Given the description of an element on the screen output the (x, y) to click on. 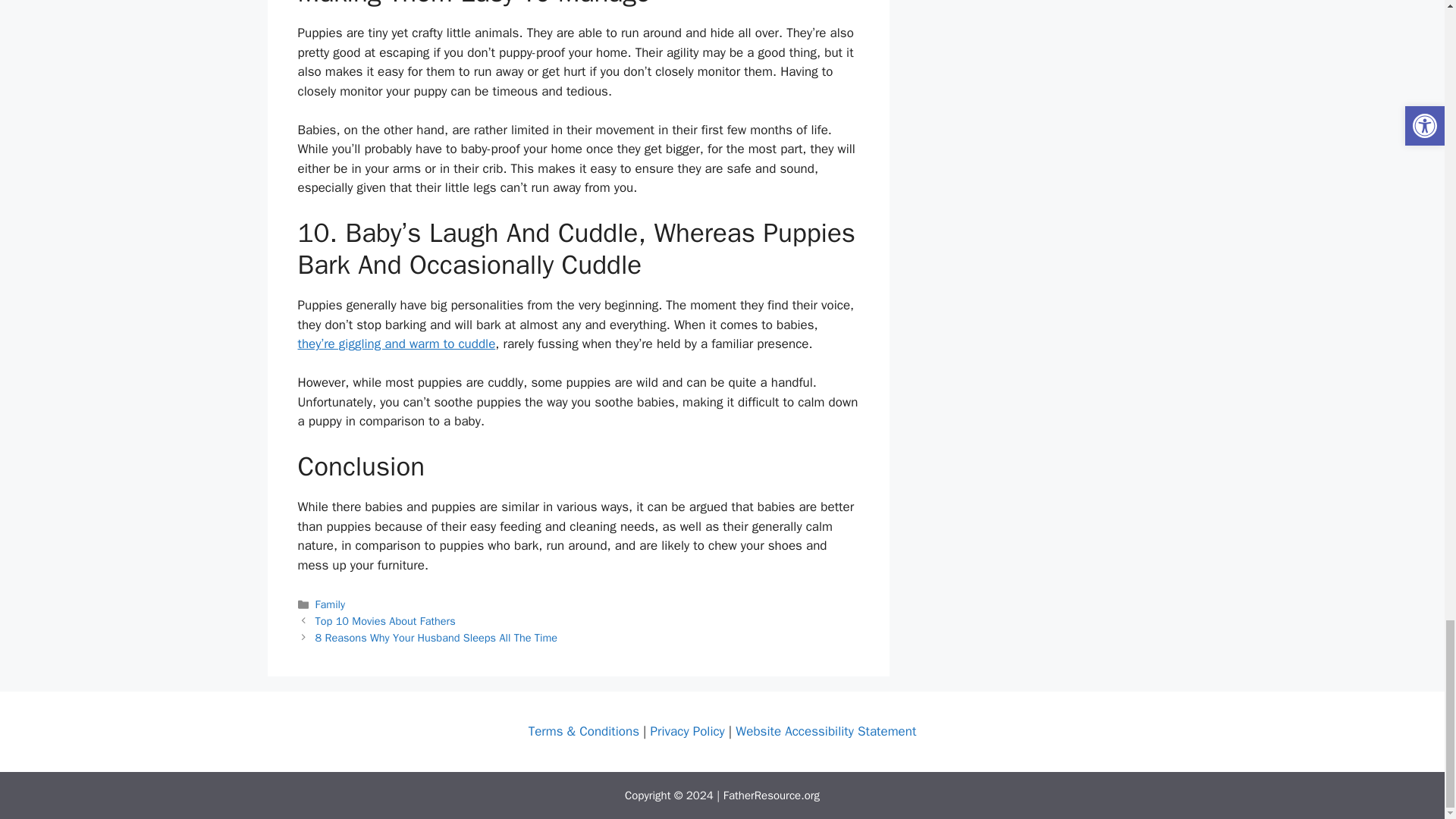
8 Reasons Why Your Husband Sleeps All The Time (436, 637)
Top 10 Movies About Fathers (385, 621)
Website Accessibility Statement (825, 731)
Privacy Policy (687, 731)
Family (330, 603)
